Given the description of an element on the screen output the (x, y) to click on. 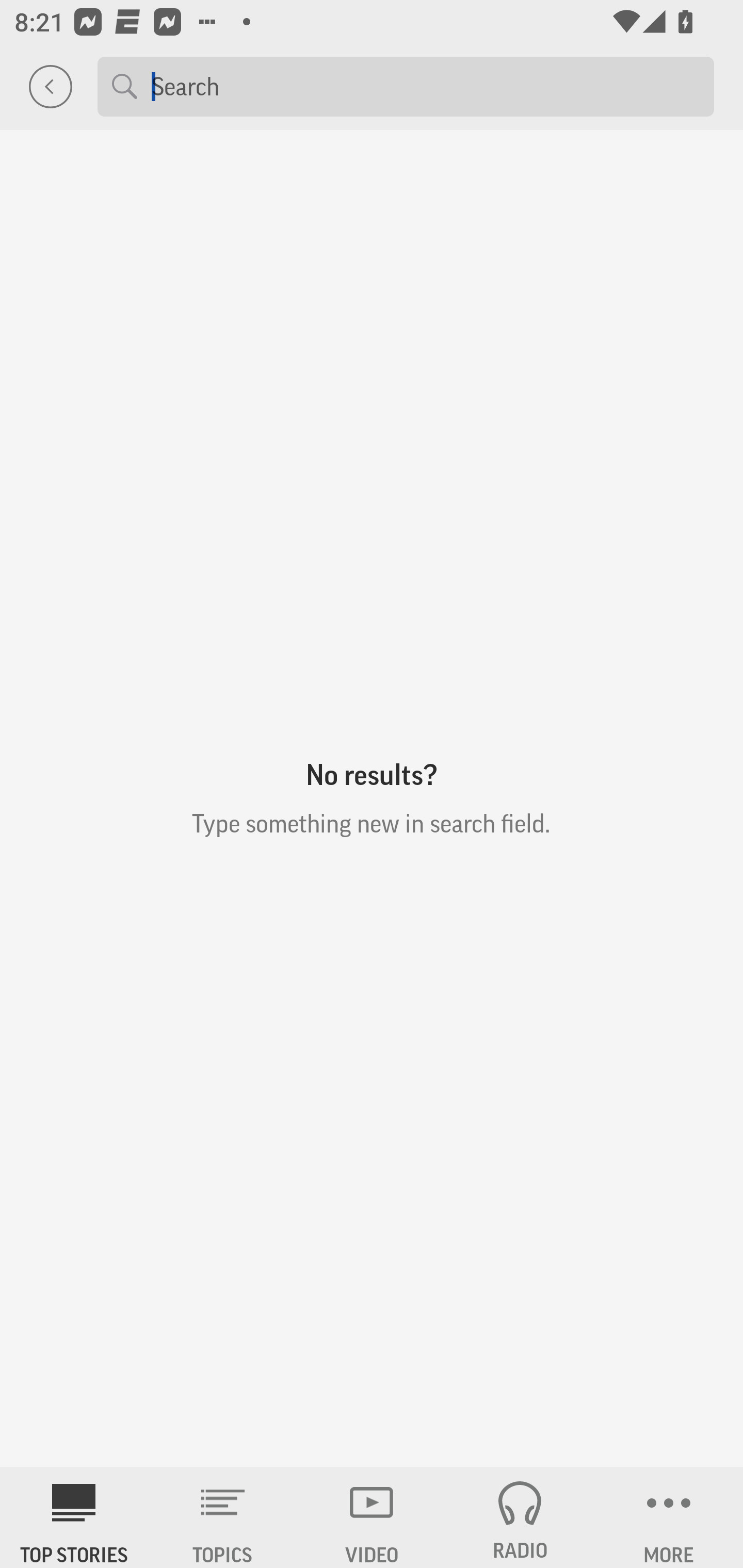
Search (425, 86)
AP News TOP STORIES (74, 1517)
TOPICS (222, 1517)
VIDEO (371, 1517)
RADIO (519, 1517)
MORE (668, 1517)
